Given the description of an element on the screen output the (x, y) to click on. 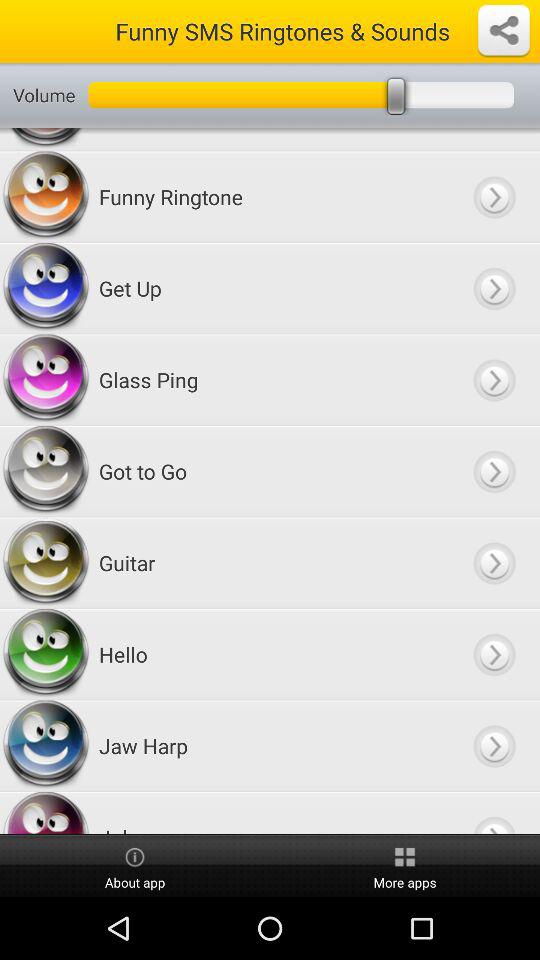
open settings (503, 31)
